Given the description of an element on the screen output the (x, y) to click on. 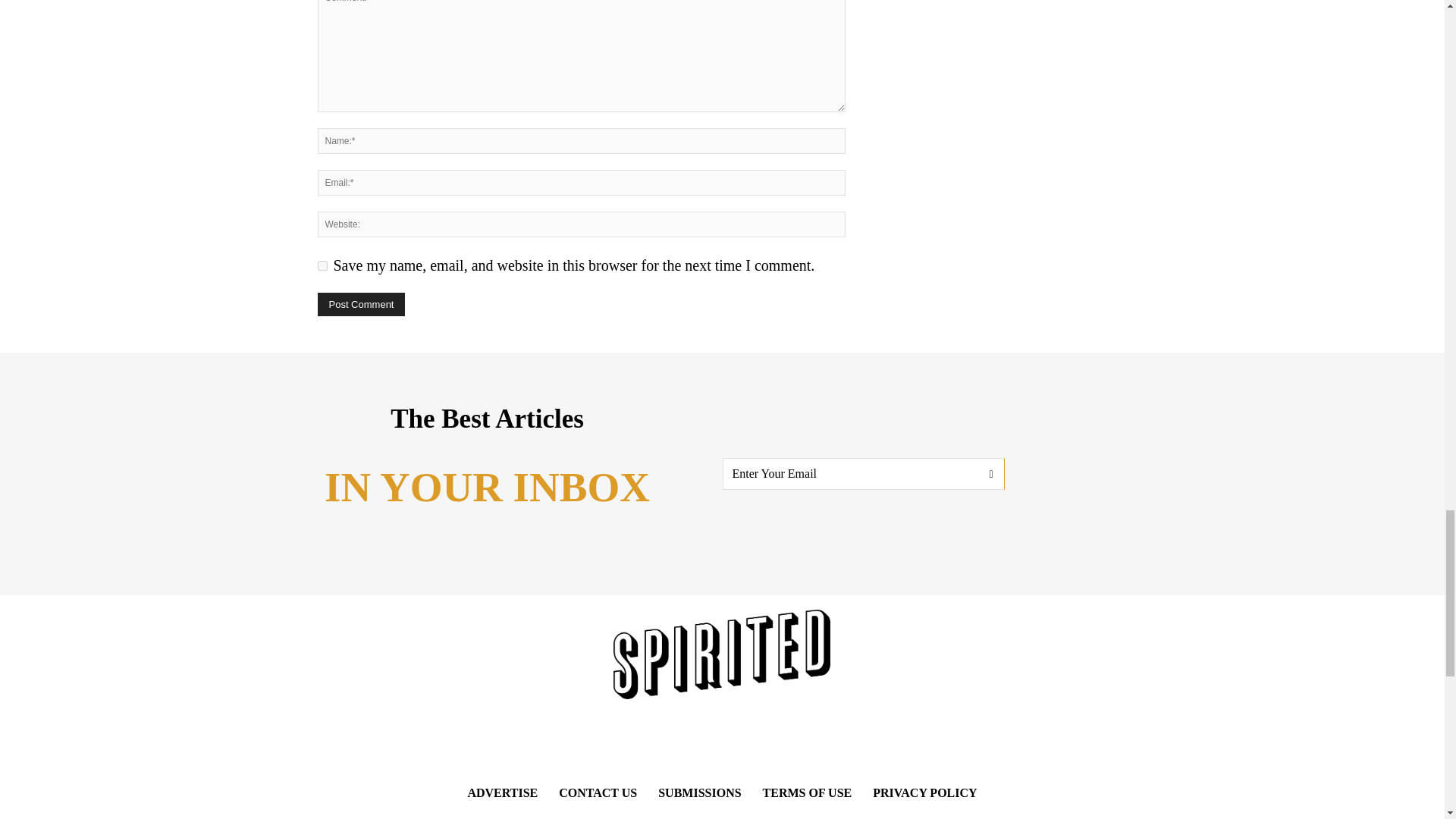
Post Comment (360, 304)
yes (321, 266)
